Given the description of an element on the screen output the (x, y) to click on. 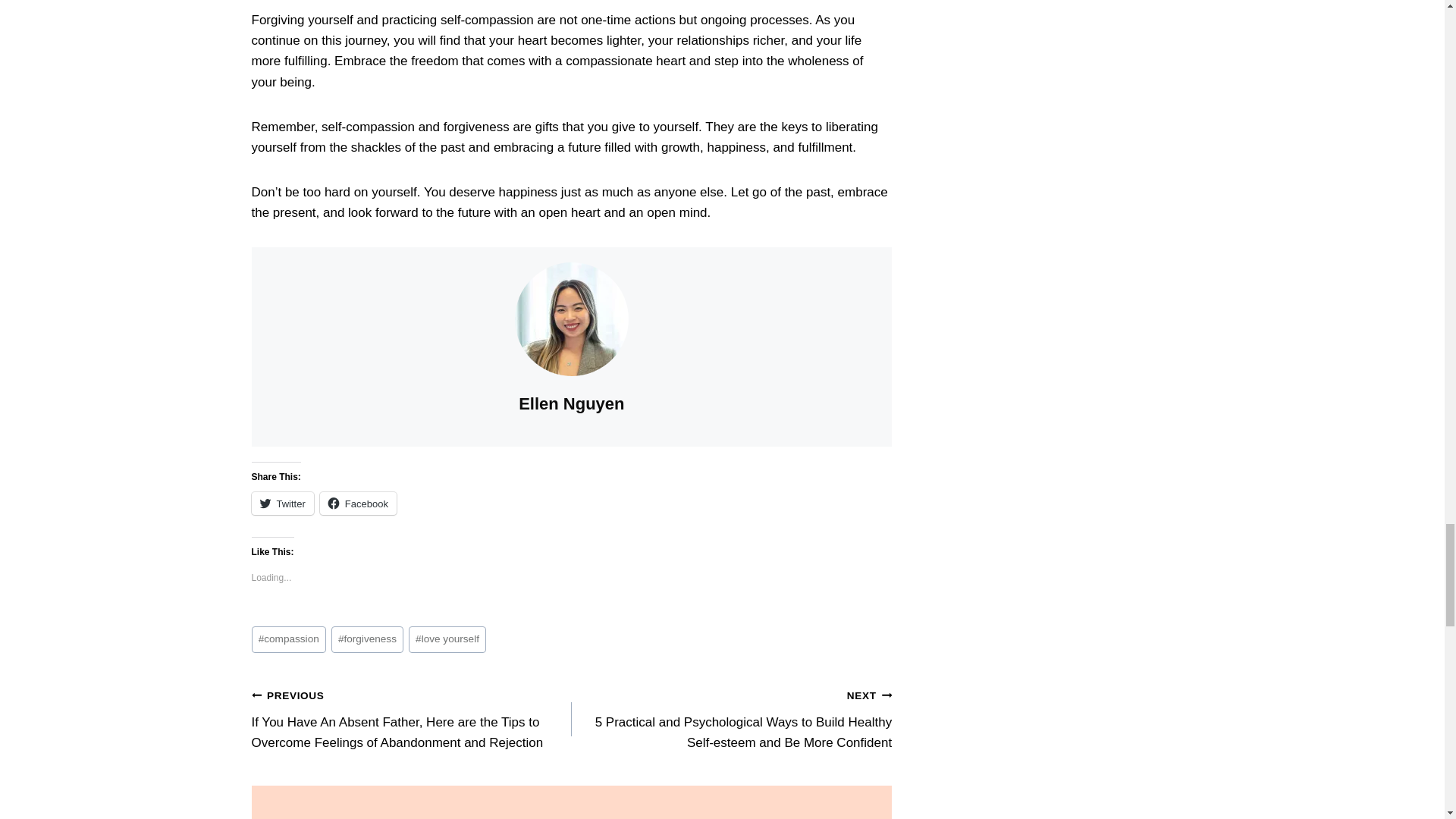
Click to share on Facebook (358, 503)
Click to share on Twitter (282, 503)
compassion (288, 639)
